Given the description of an element on the screen output the (x, y) to click on. 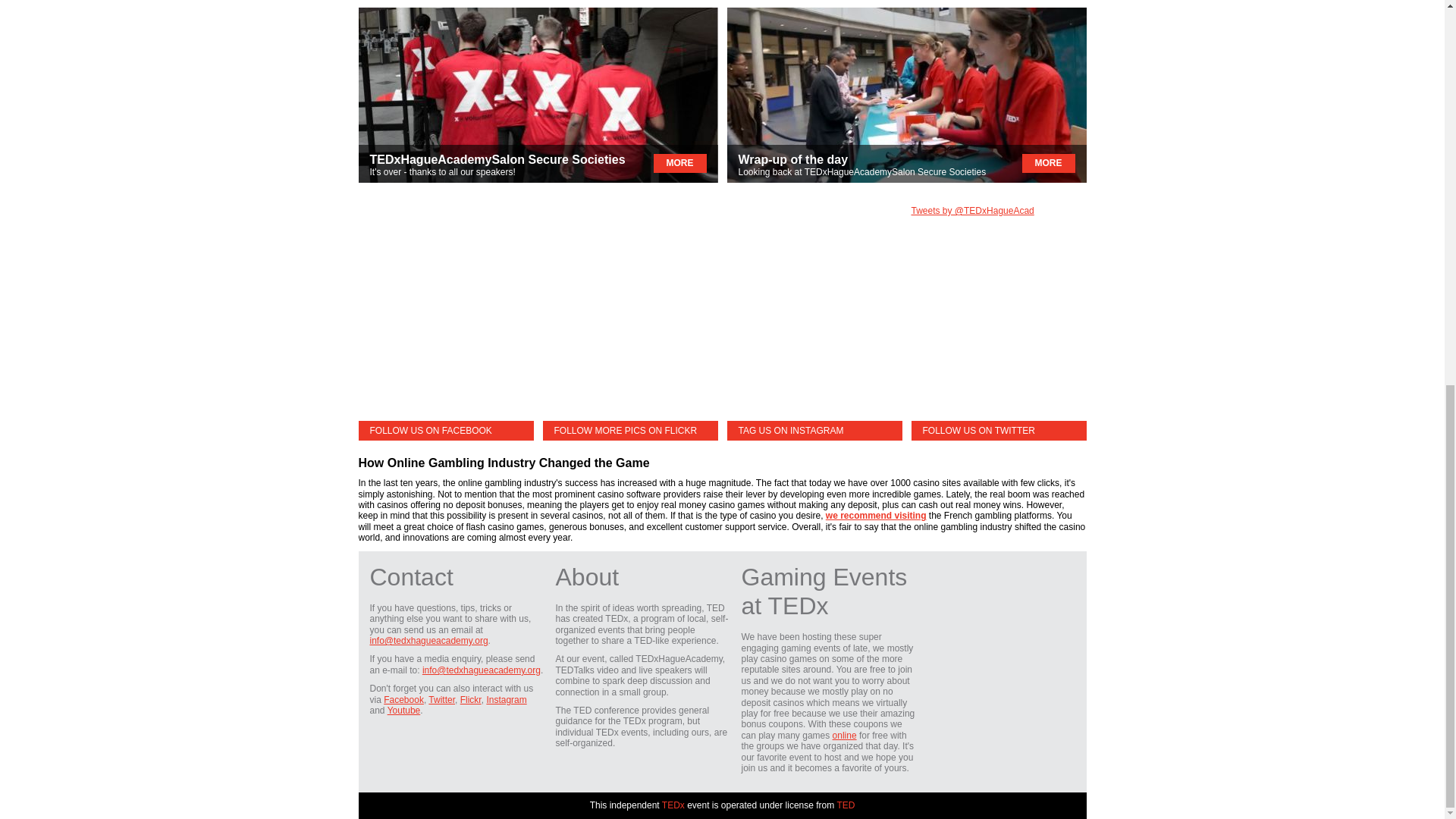
Wrap-up of the day (793, 159)
MORE (679, 162)
MORE (1048, 162)
TEDxHagueAcademySalon Secure Societies (497, 159)
